Given the description of an element on the screen output the (x, y) to click on. 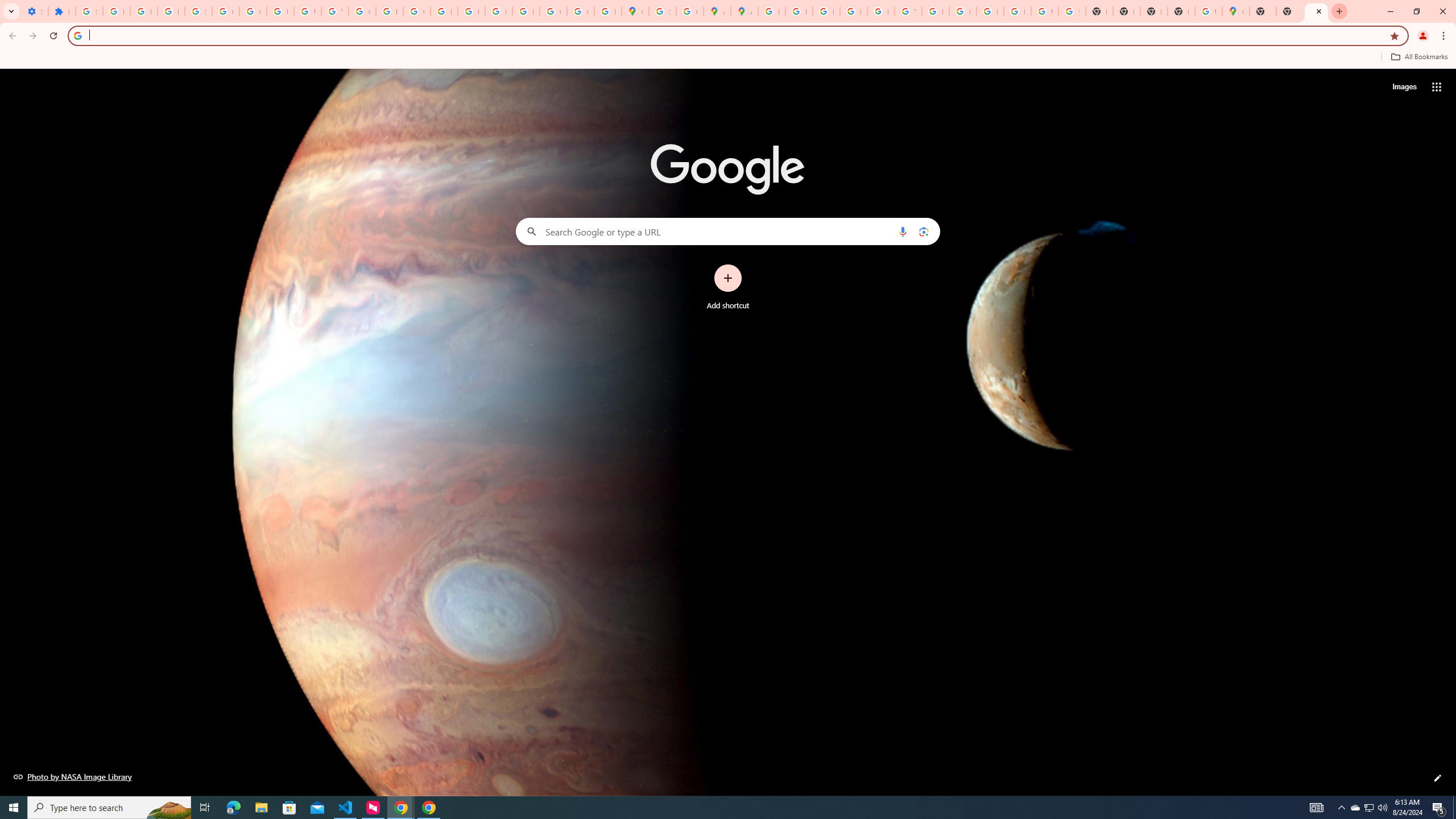
Bookmarks (728, 58)
https://scholar.google.com/ (389, 11)
Photo by NASA Image Library (72, 776)
Google Account Help (225, 11)
Sign in - Google Accounts (88, 11)
